Given the description of an element on the screen output the (x, y) to click on. 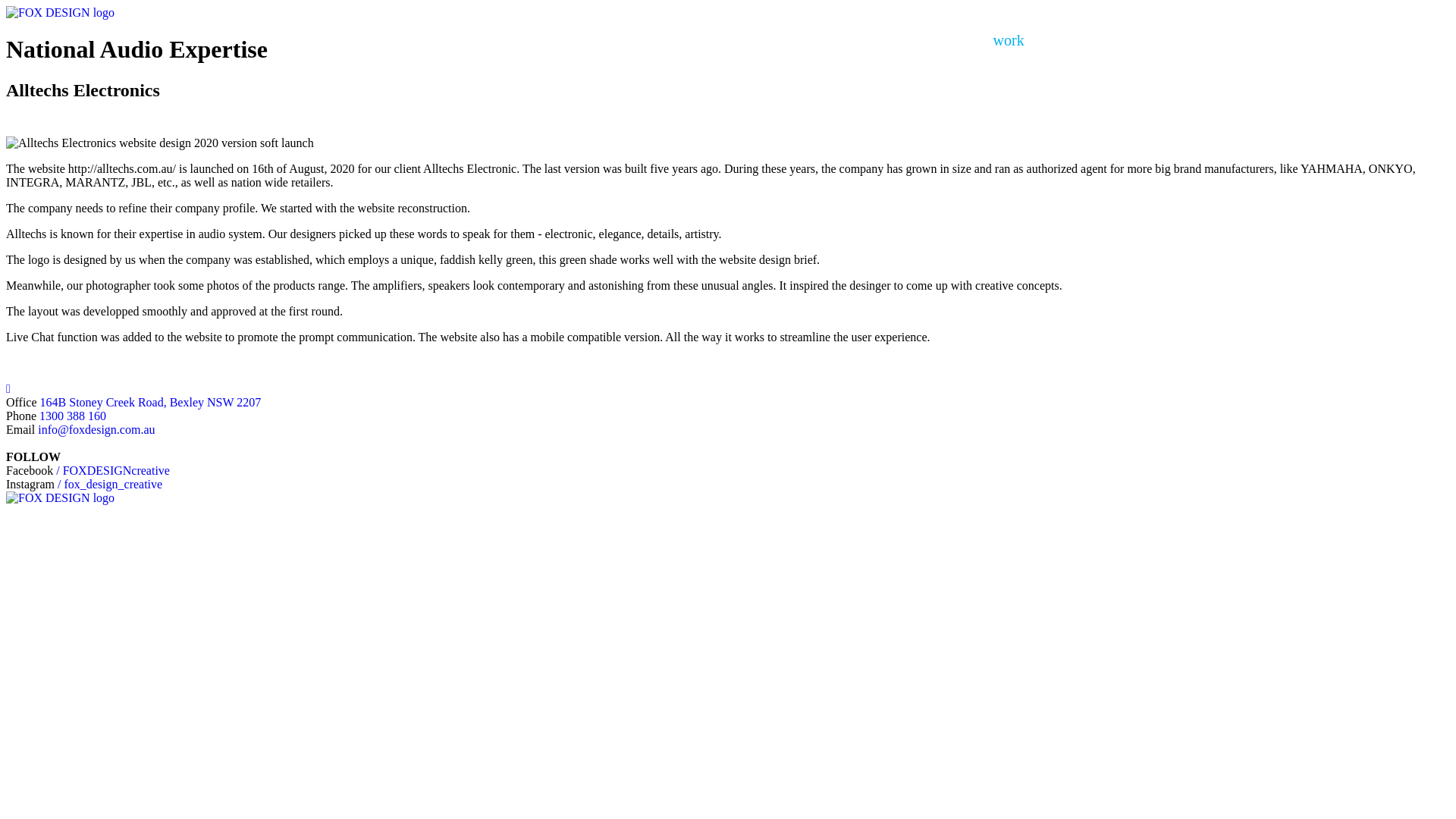
info@foxdesign.com.au Element type: text (95, 429)
164B Stoney Creek Road, Bexley NSW 2207 Element type: text (150, 401)
news Element type: text (1180, 40)
services Element type: text (1094, 40)
/ fox_design_creative Element type: text (109, 483)
work Element type: text (1008, 40)
/ FOXDESIGNcreative Element type: text (111, 470)
contact Element type: text (1344, 40)
1300 388 160 Element type: text (72, 415)
about Element type: text (1259, 40)
